Given the description of an element on the screen output the (x, y) to click on. 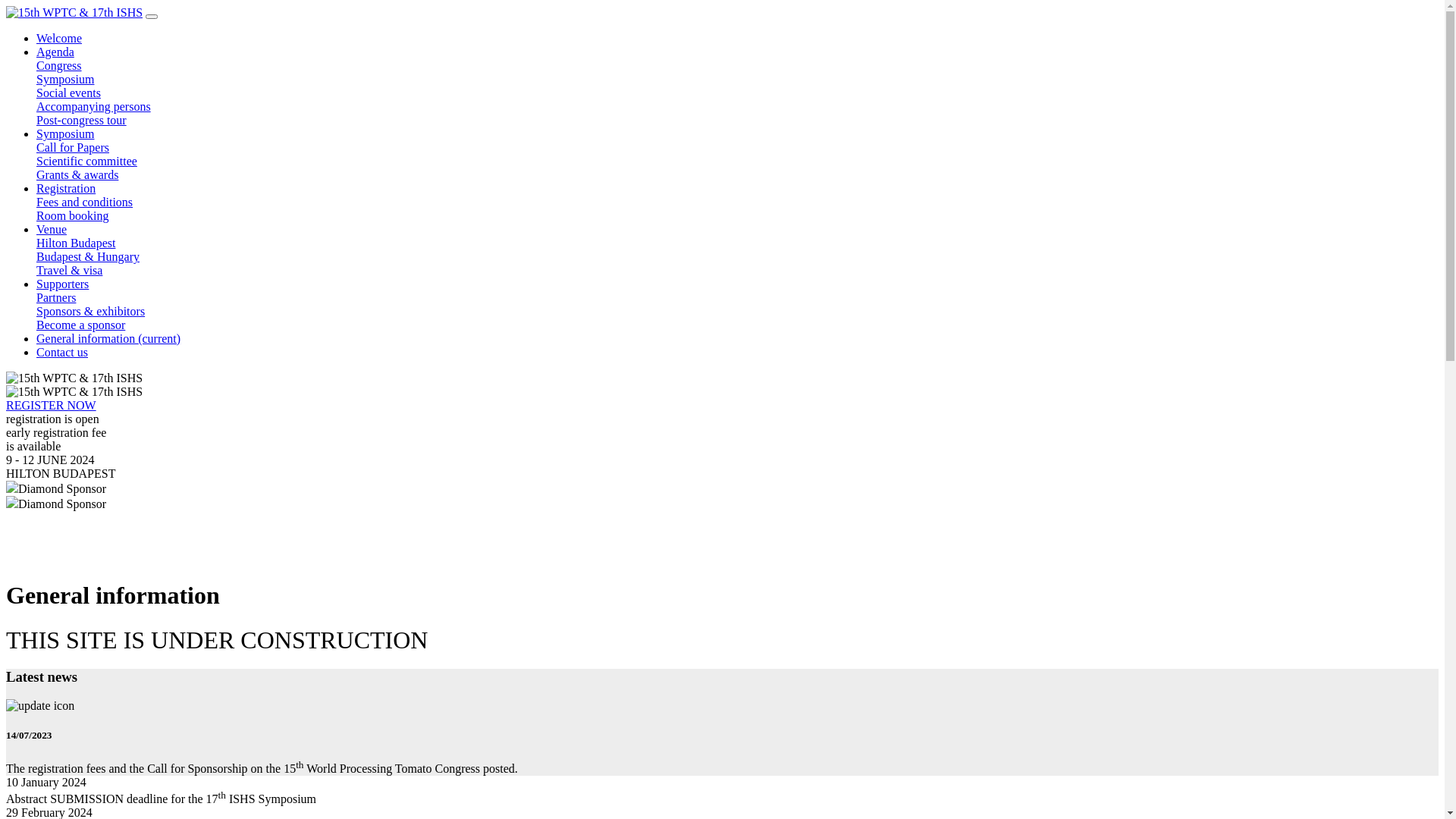
REGISTER NOW Element type: text (51, 404)
Fees and conditions Element type: text (84, 201)
15th WPTC & 17th ISHS Element type: hover (74, 391)
Congress Element type: text (58, 65)
update Element type: hover (40, 705)
Symposium Element type: text (65, 133)
Sponsors & exhibitors Element type: text (90, 310)
Hilton Budapest Element type: text (75, 242)
Scientific committee Element type: text (86, 160)
Accompanying persons Element type: text (93, 106)
Budapest & Hungary Element type: text (87, 256)
Post-congress tour Element type: text (81, 119)
Welcome Element type: text (58, 37)
Call for Papers Element type: text (72, 147)
Contact us Element type: text (61, 351)
Room booking Element type: text (72, 215)
General information (current) Element type: text (108, 338)
Social events Element type: text (68, 92)
Registration Element type: text (65, 188)
15th WPTC & 17th ISHS Element type: hover (74, 12)
Travel & visa Element type: text (69, 269)
Agenda Element type: text (55, 51)
Venue Element type: text (51, 228)
15th WPTC & 17th ISHS Element type: hover (74, 378)
Grants & awards Element type: text (77, 174)
Partners Element type: text (55, 297)
Become a sponsor Element type: text (80, 324)
Supporters Element type: text (62, 283)
Symposium Element type: text (65, 78)
